Given the description of an element on the screen output the (x, y) to click on. 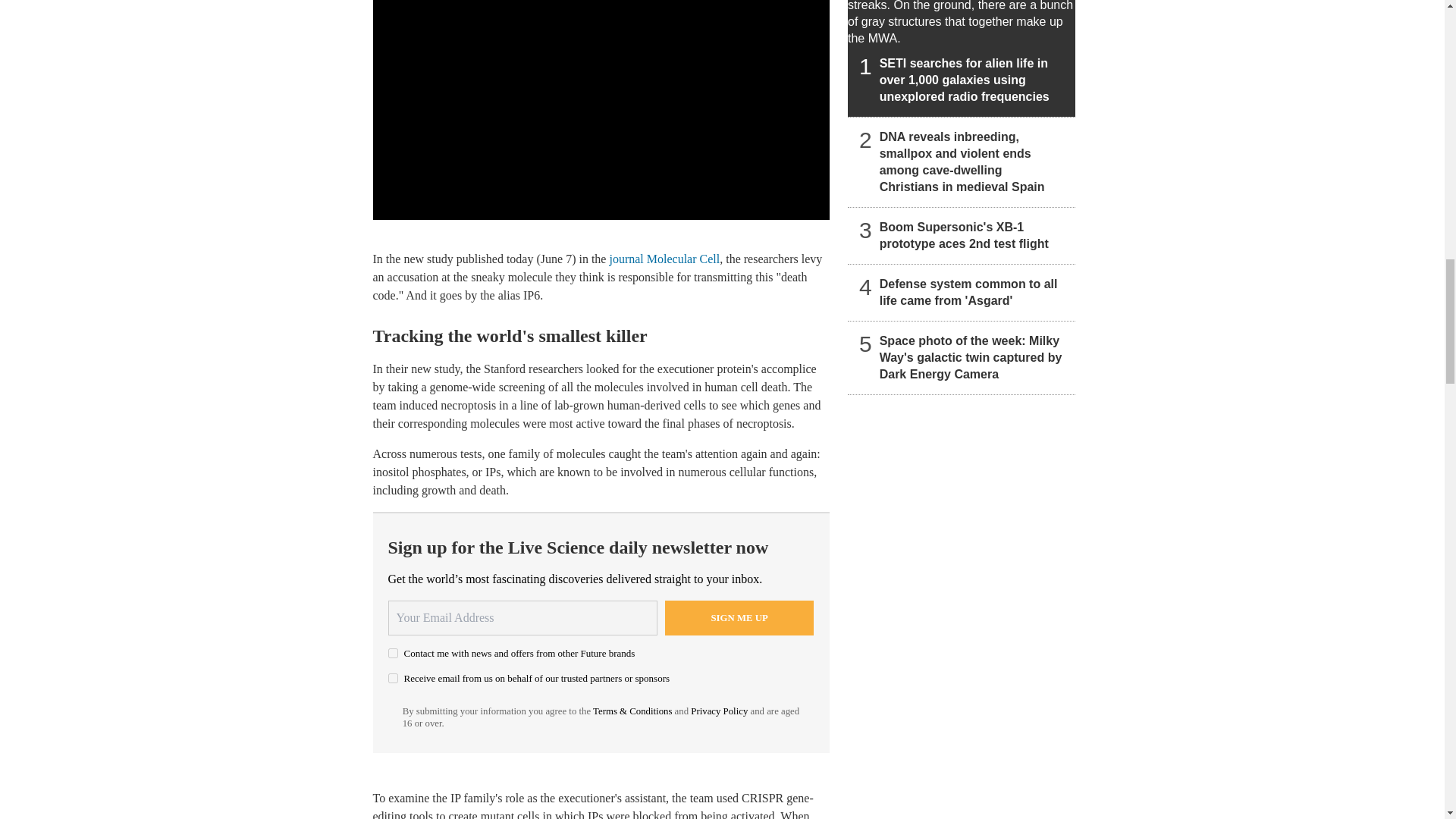
on (392, 653)
on (392, 678)
Sign me up (739, 617)
